Given the description of an element on the screen output the (x, y) to click on. 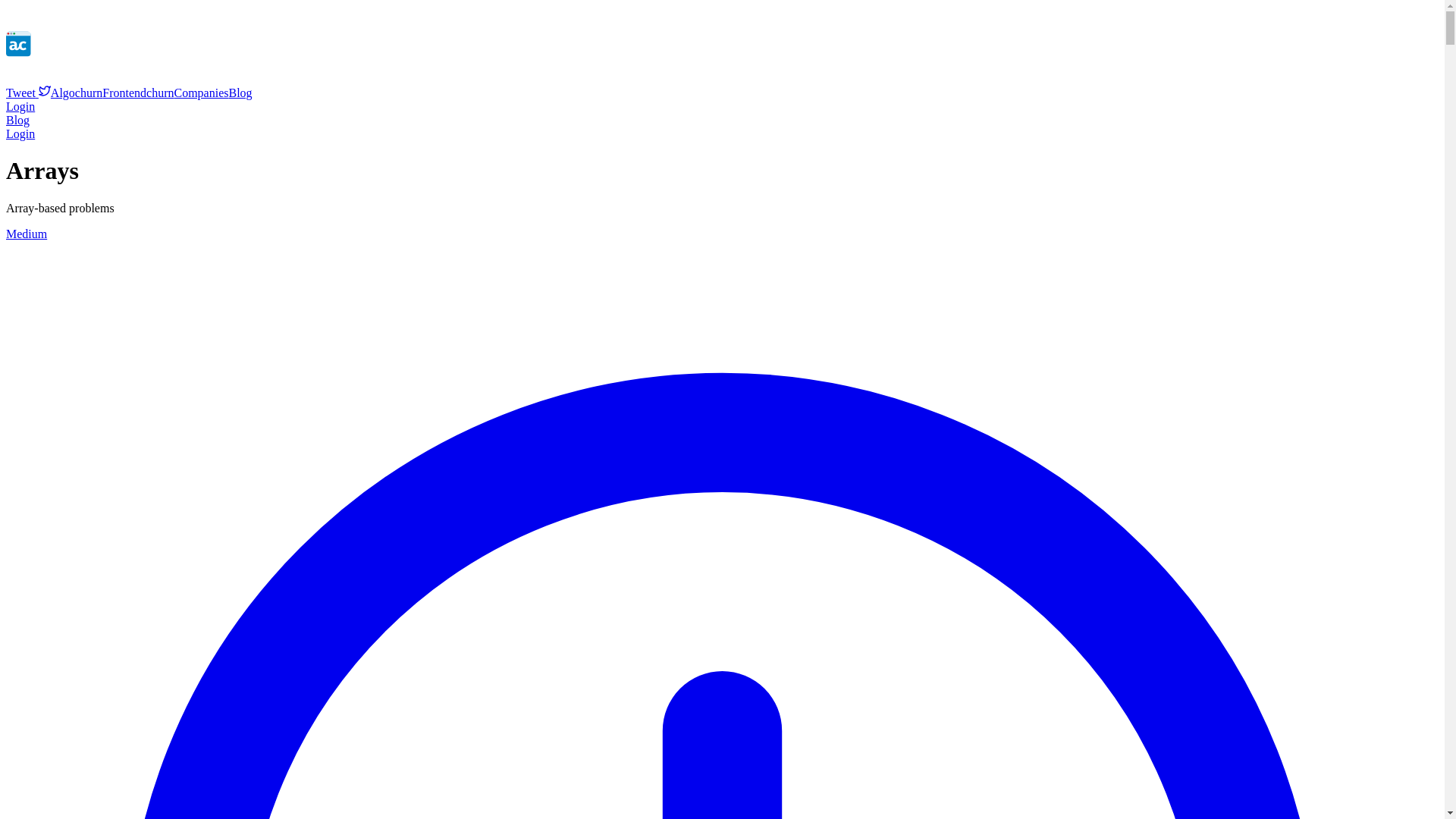
Algochurn (75, 92)
Tweet (27, 92)
Blog (17, 119)
Blog (239, 92)
Frontendchurn (137, 92)
Companies (201, 92)
